Given the description of an element on the screen output the (x, y) to click on. 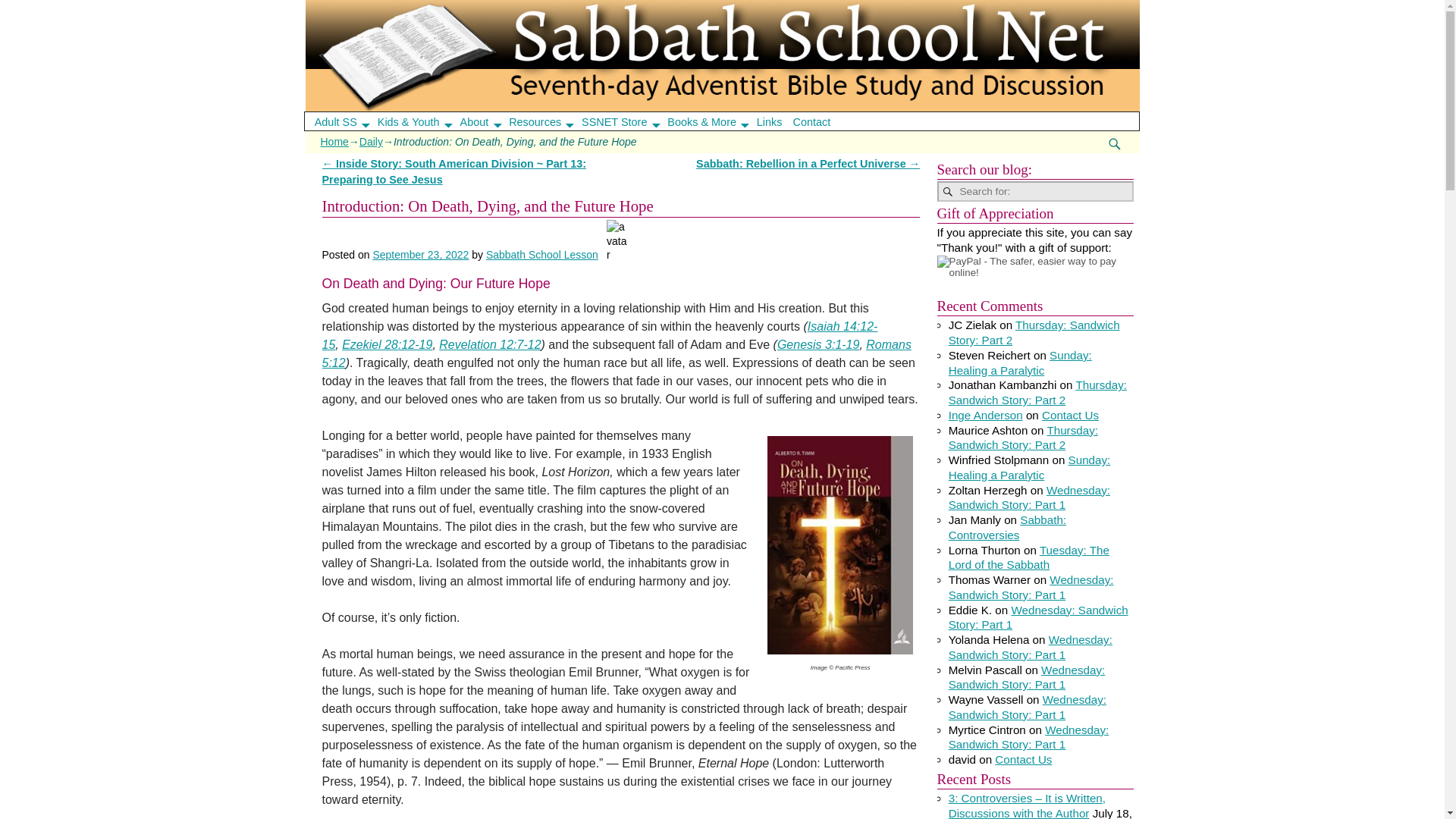
Resources (545, 121)
View all posts by Sabbath School Lesson (542, 254)
8:45 am (420, 254)
Adult SS (346, 121)
About (485, 121)
